Given the description of an element on the screen output the (x, y) to click on. 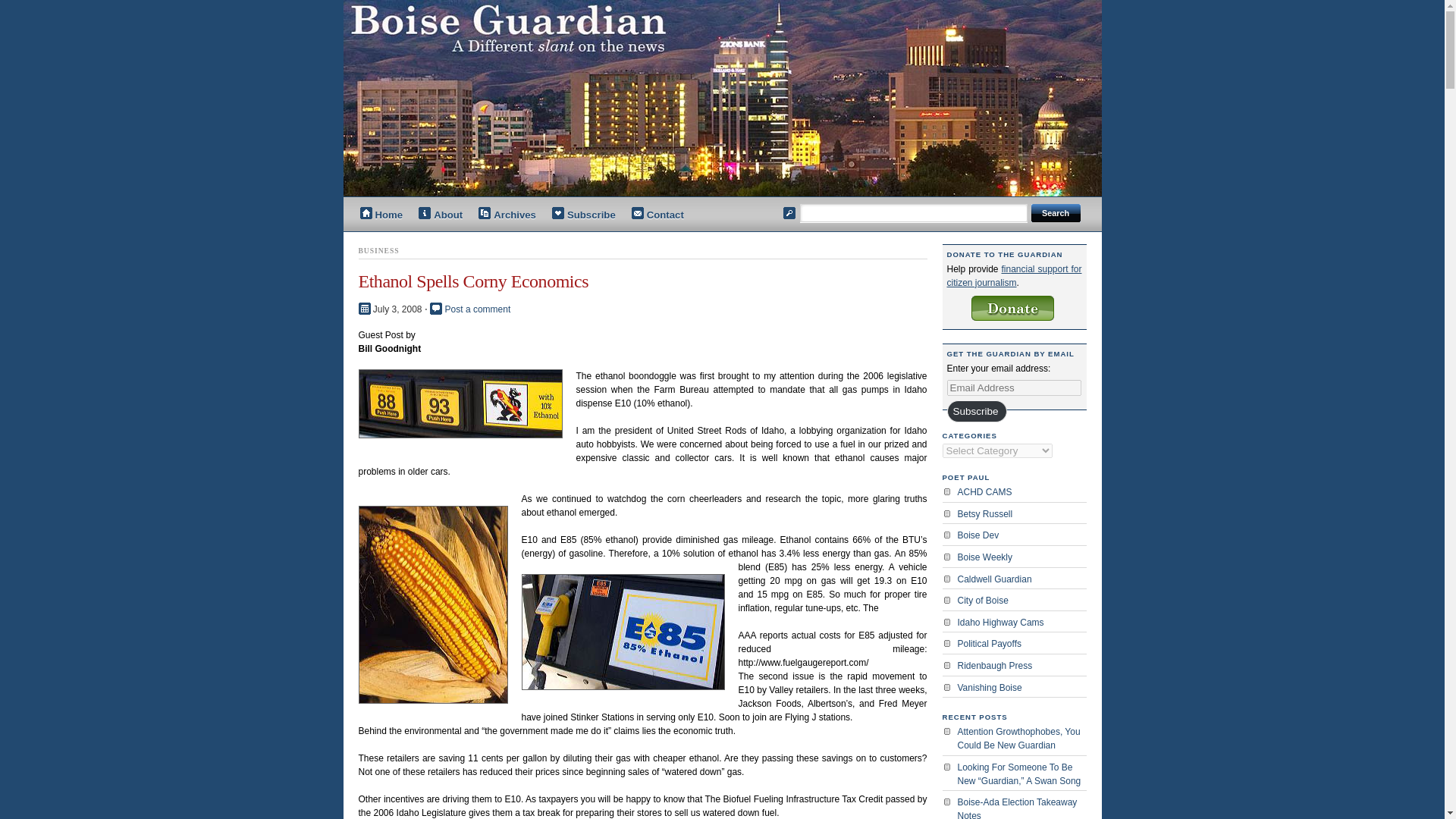
Search (1055, 212)
Archives (507, 214)
Search (1055, 212)
About (440, 214)
Home (381, 214)
Post a comment (478, 308)
Contact (657, 214)
Subscribe (583, 214)
